Given the description of an element on the screen output the (x, y) to click on. 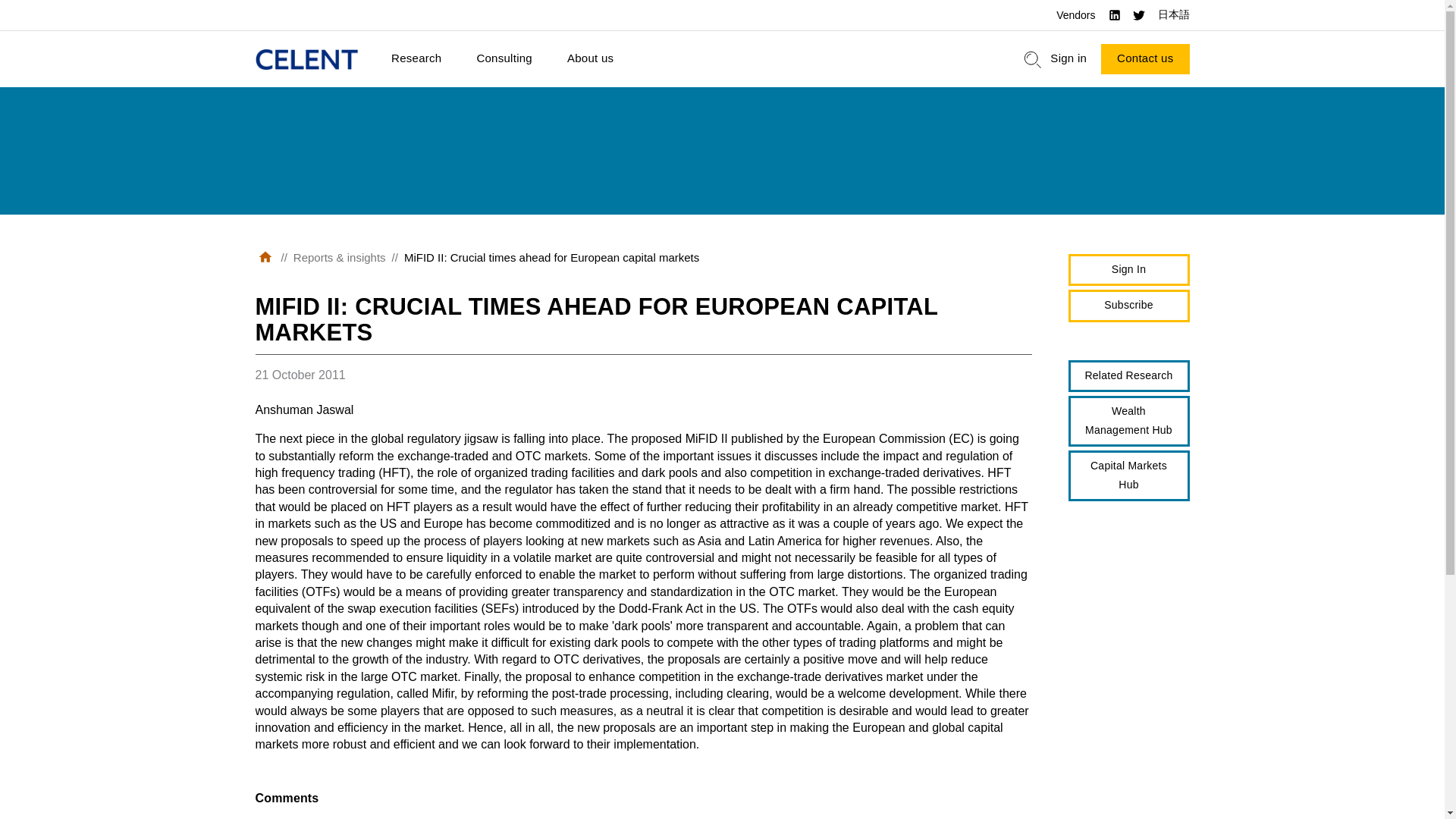
Consulting (503, 59)
Contact us (1144, 59)
About us (590, 59)
Research (415, 59)
search (1032, 58)
Vendors (1075, 15)
Sign in (1068, 59)
Home (306, 59)
Sign In (1128, 269)
Subscribe (1128, 305)
